Given the description of an element on the screen output the (x, y) to click on. 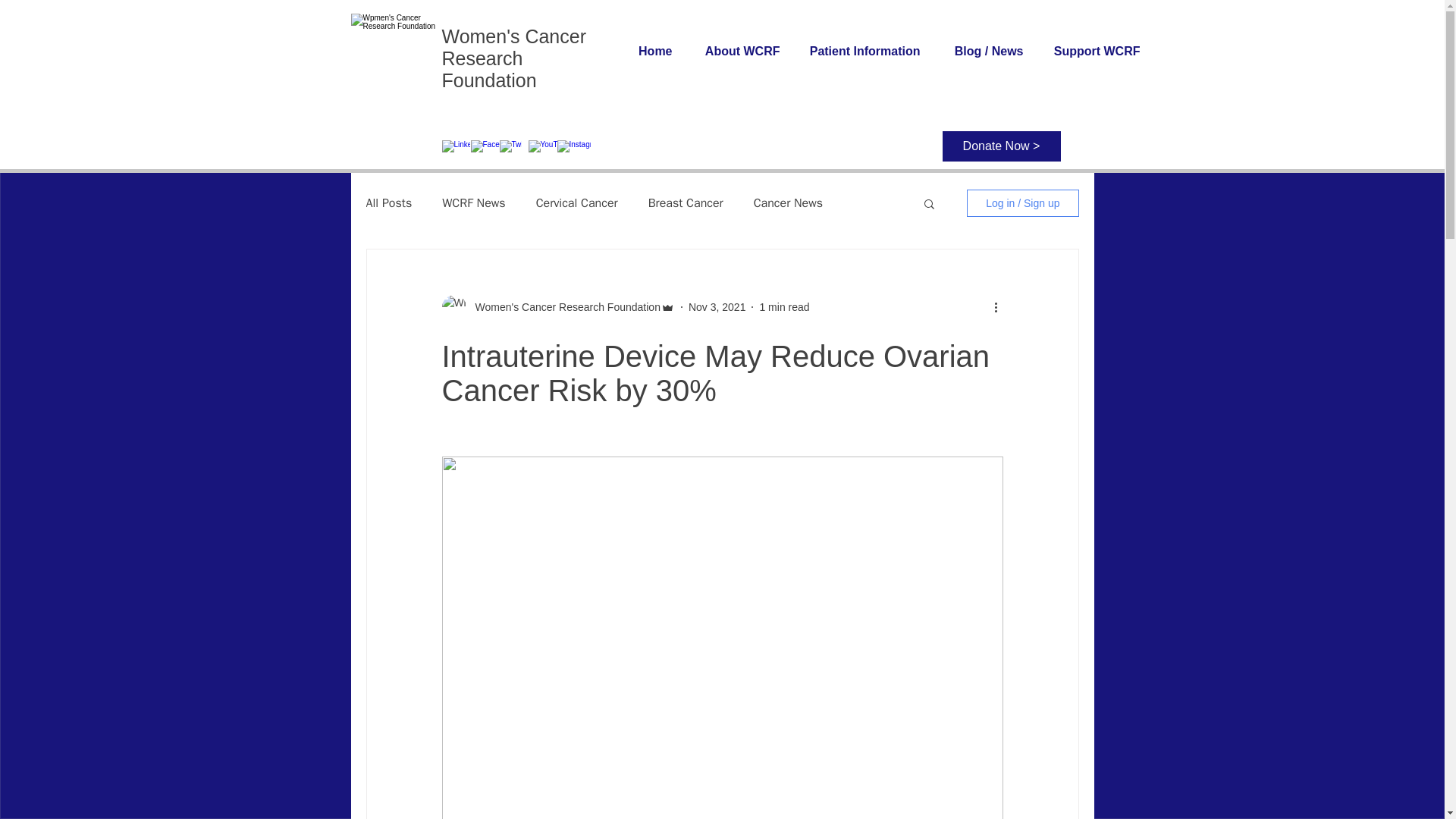
All Posts (388, 203)
WCRF News (473, 203)
Nov 3, 2021 (716, 306)
Women's Cancer Research Foundation (562, 306)
Home (643, 50)
About WCRF (733, 50)
Cancer News (788, 203)
1 min read (783, 306)
Support WCRF (1089, 50)
Patient Information (857, 50)
